Given the description of an element on the screen output the (x, y) to click on. 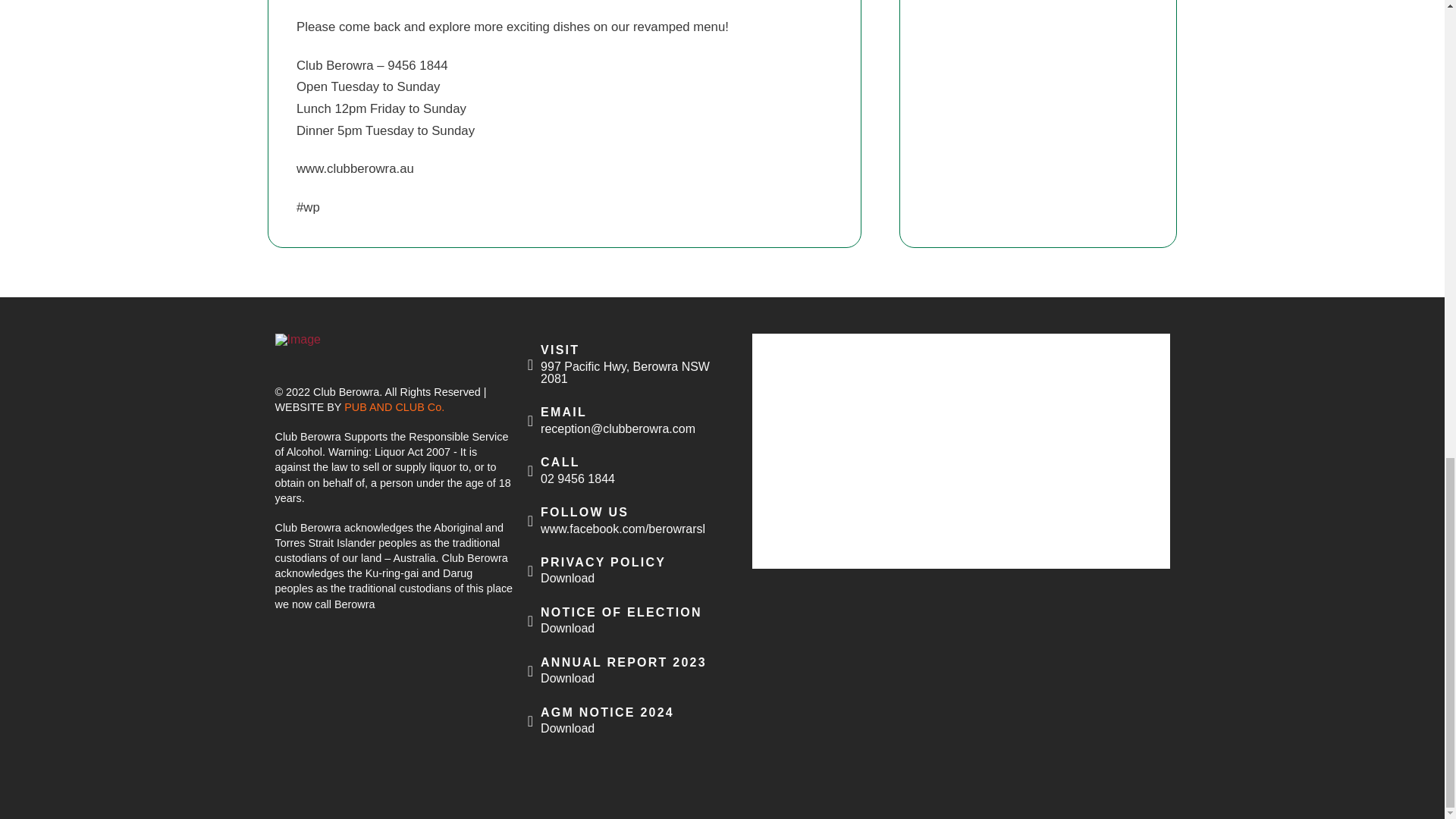
PUB AND CLUB Co. (632, 364)
